Given the description of an element on the screen output the (x, y) to click on. 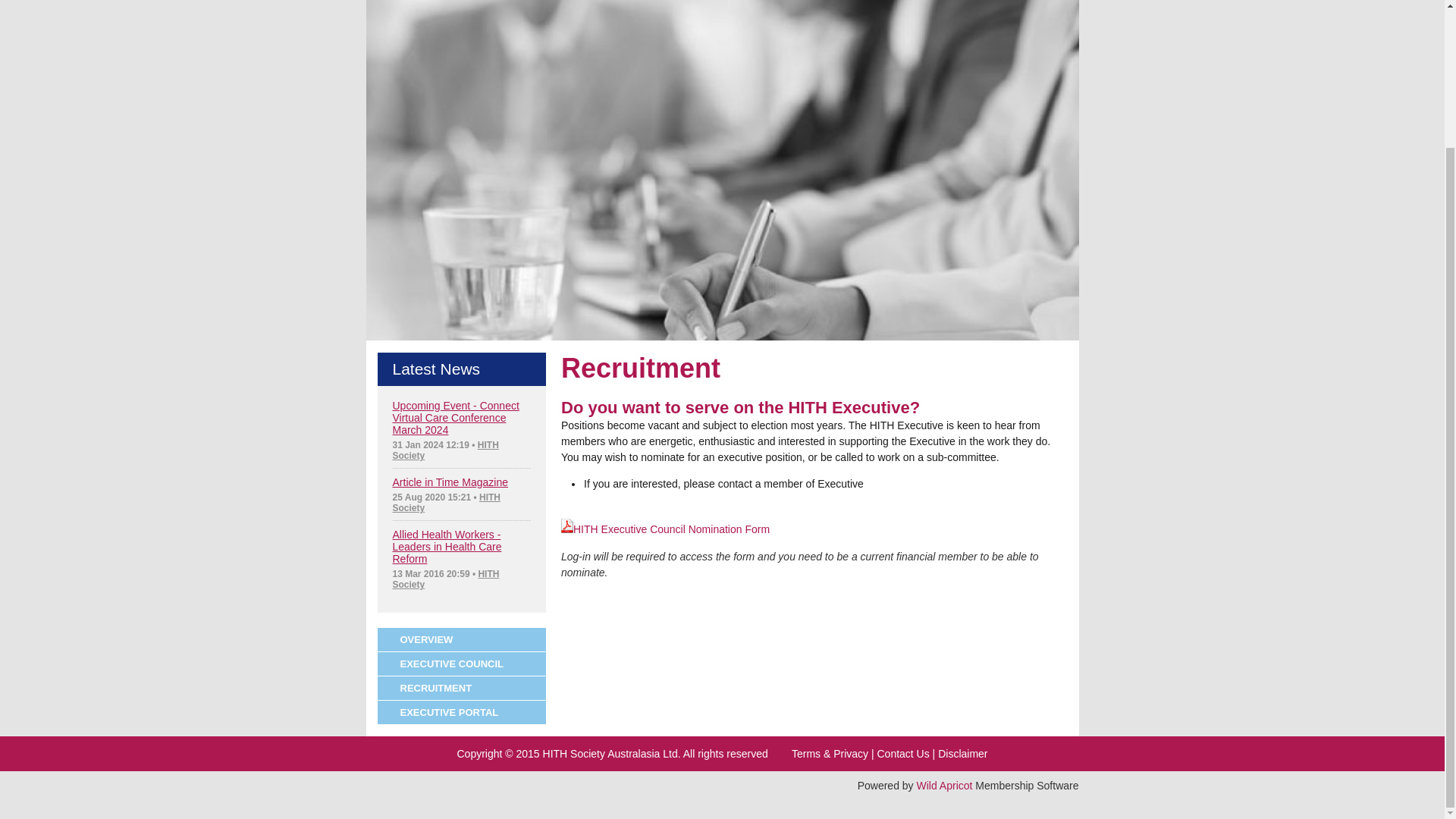
Wild Apricot (944, 785)
Disclaimer (962, 753)
HITH Executive Council Nomination Form (665, 529)
Upcoming Event - Connect Virtual Care Conference March 2024 (456, 417)
Allied Health Workers - Leaders in Health Care Reform (447, 546)
HITH Executive Council Nomination Form (665, 529)
HITH Society (446, 578)
Article in Time Magazine (450, 481)
RECRUITMENT (462, 688)
Contact Us (902, 753)
EXECUTIVE PORTAL (462, 712)
HITH Society (446, 502)
OVERVIEW (462, 639)
EXECUTIVE COUNCIL (462, 663)
HITH Society (446, 450)
